Given the description of an element on the screen output the (x, y) to click on. 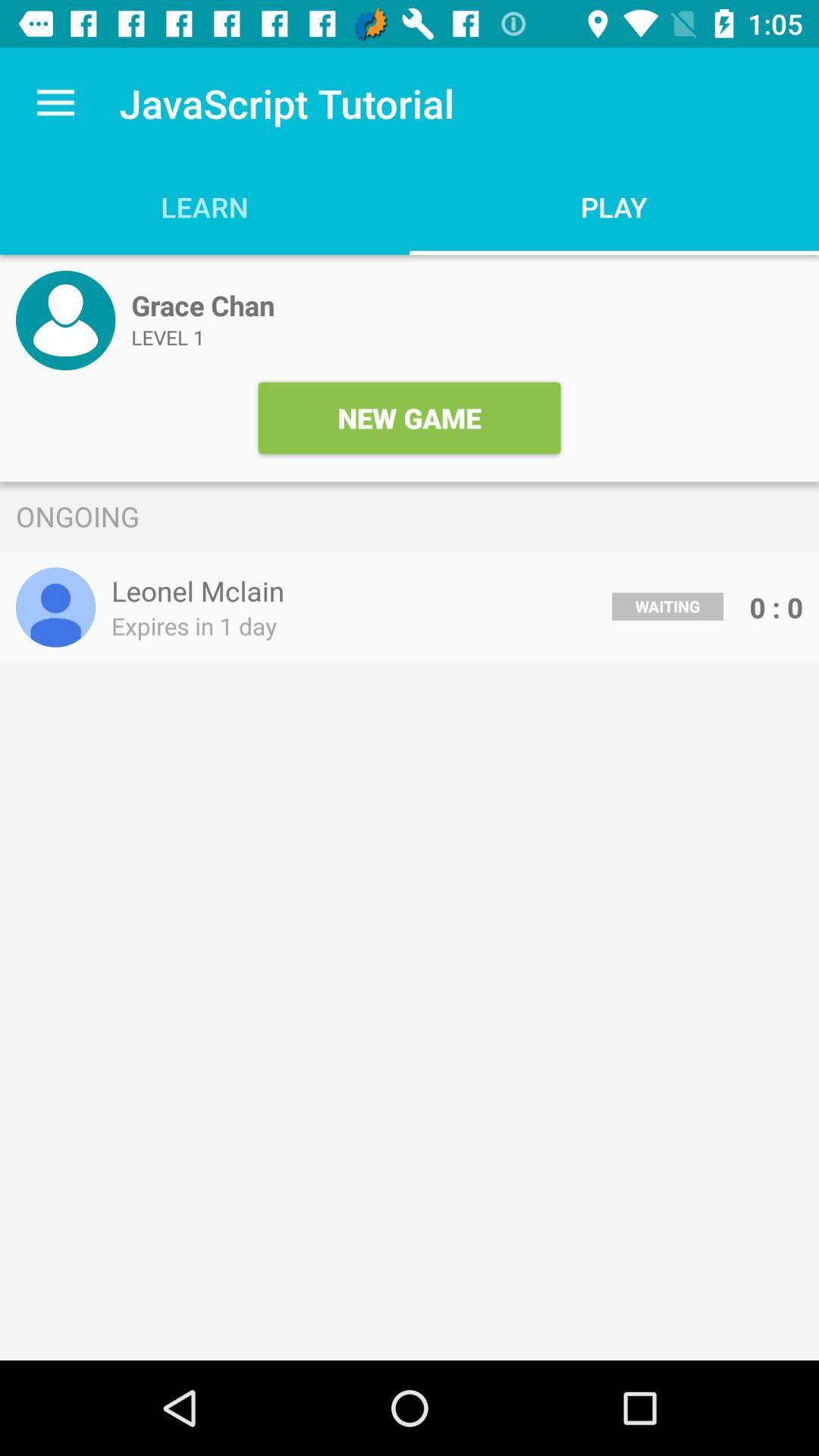
go to new game (409, 417)
select the person icon left to the grace chan on the left hand side (65, 319)
